Given the description of an element on the screen output the (x, y) to click on. 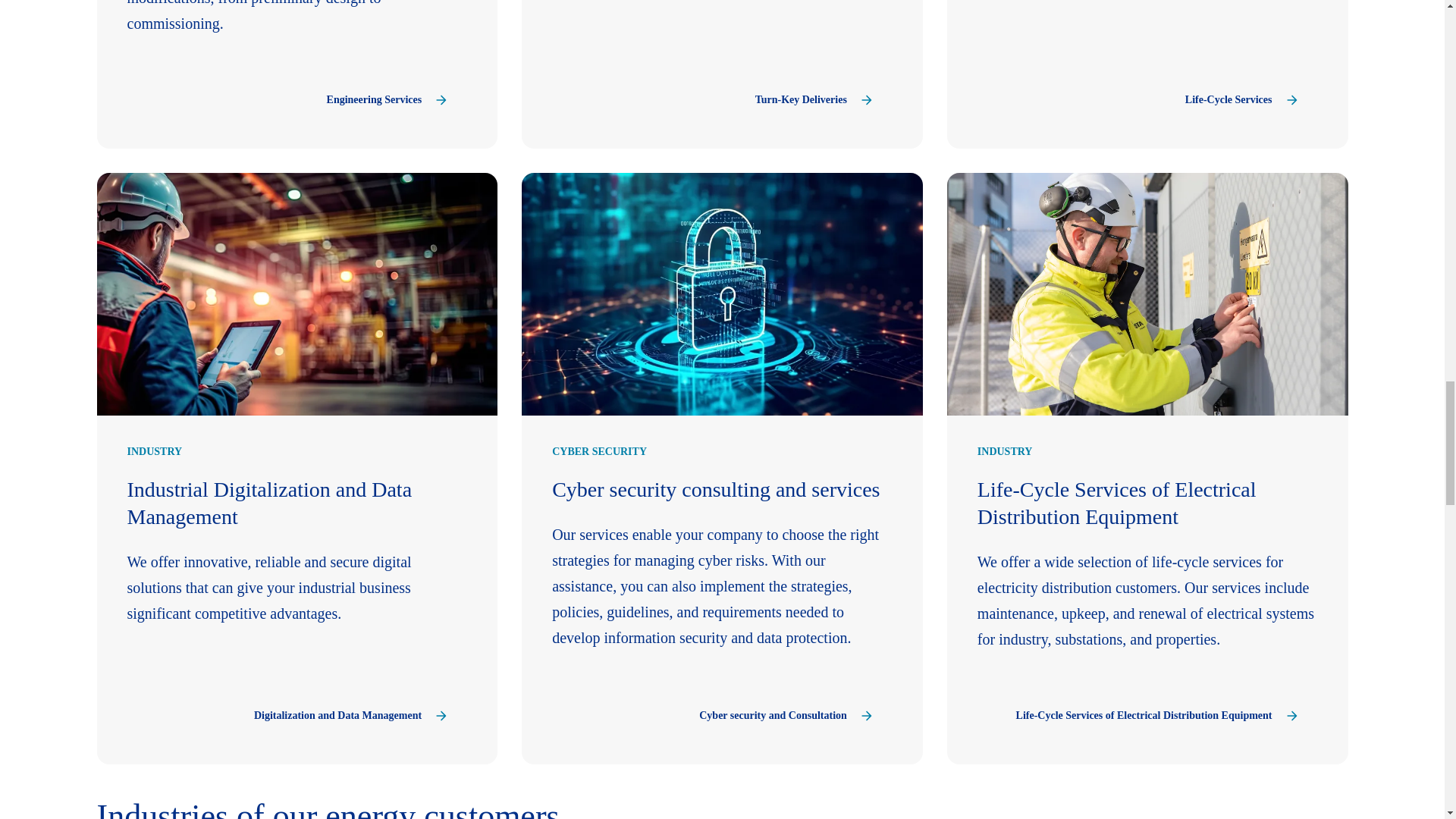
Digitalization and Data Management (351, 715)
Cyber security and Consultation (786, 715)
Engineering Services (387, 99)
Life-Cycle Services (1242, 99)
Turn-Key Deliveries (814, 99)
Life-Cycle Services of Electrical Distribution Equipment (1157, 715)
